Given the description of an element on the screen output the (x, y) to click on. 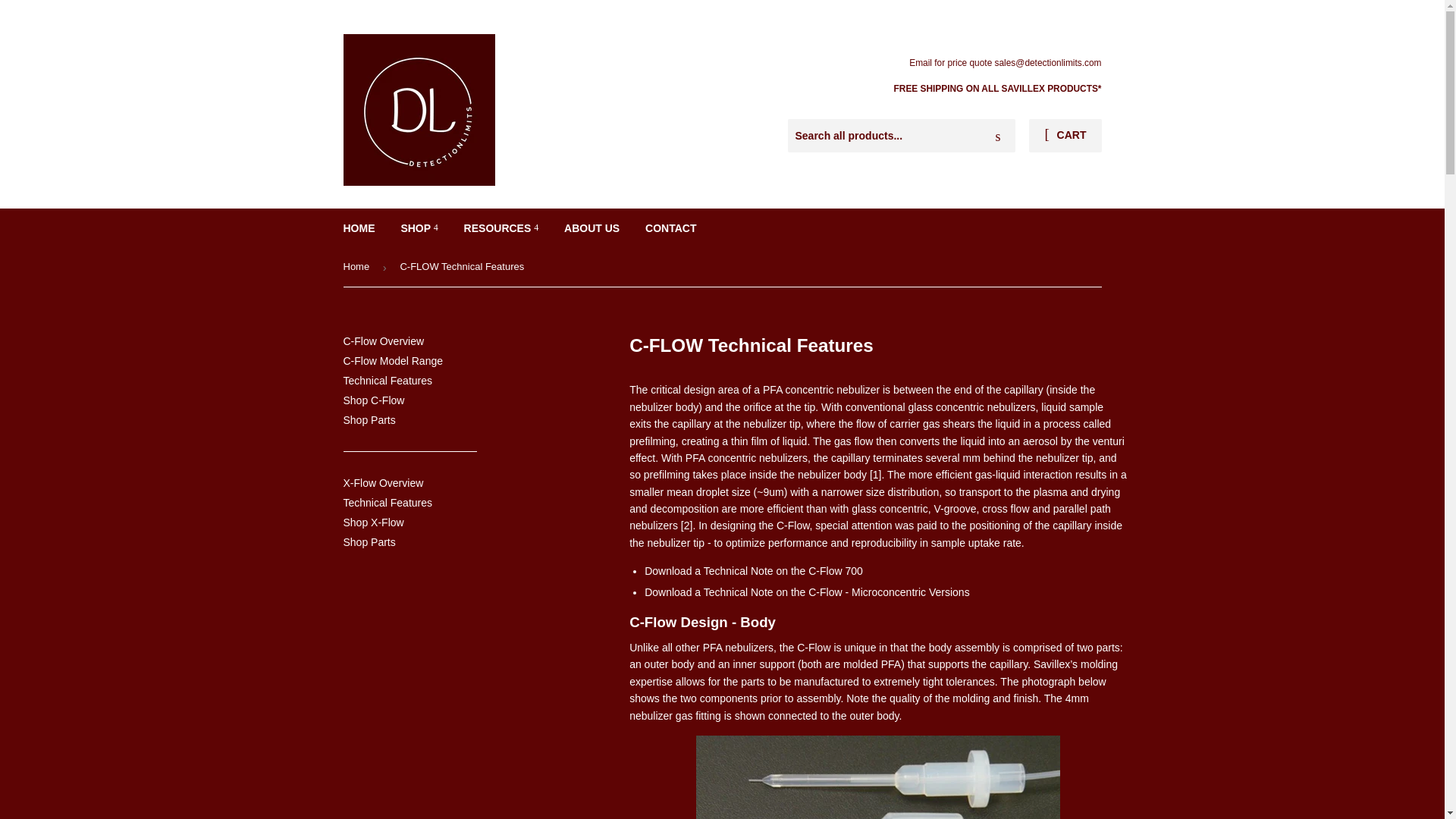
RESOURCES (501, 228)
CART (1064, 135)
Search (997, 136)
HOME (359, 228)
SHOP (418, 228)
